Given the description of an element on the screen output the (x, y) to click on. 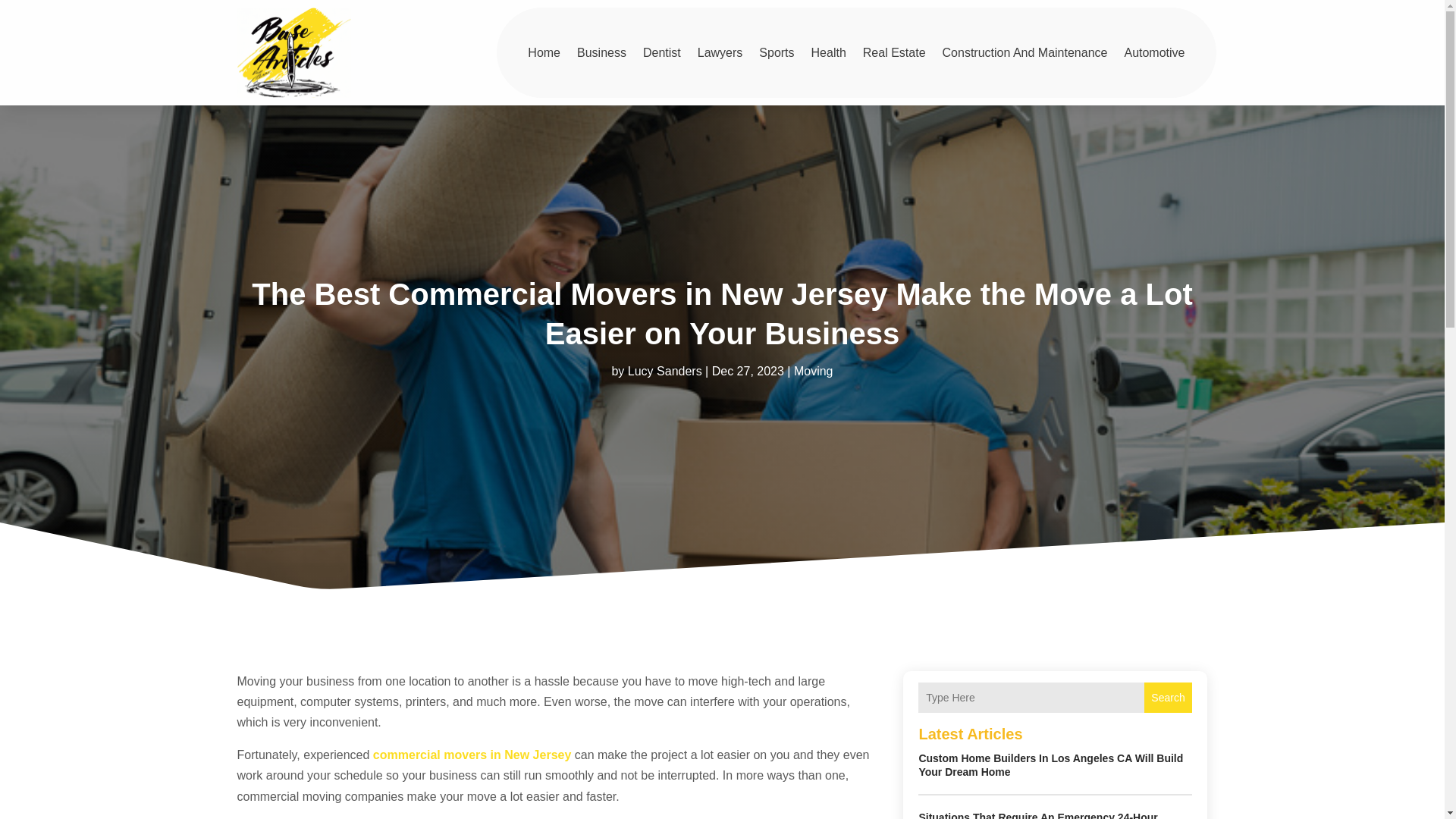
Search (1168, 697)
Lucy Sanders (664, 370)
Posts by Lucy Sanders (664, 370)
commercial movers in New Jersey (471, 754)
Moving (812, 370)
Construction And Maintenance (1025, 52)
